Given the description of an element on the screen output the (x, y) to click on. 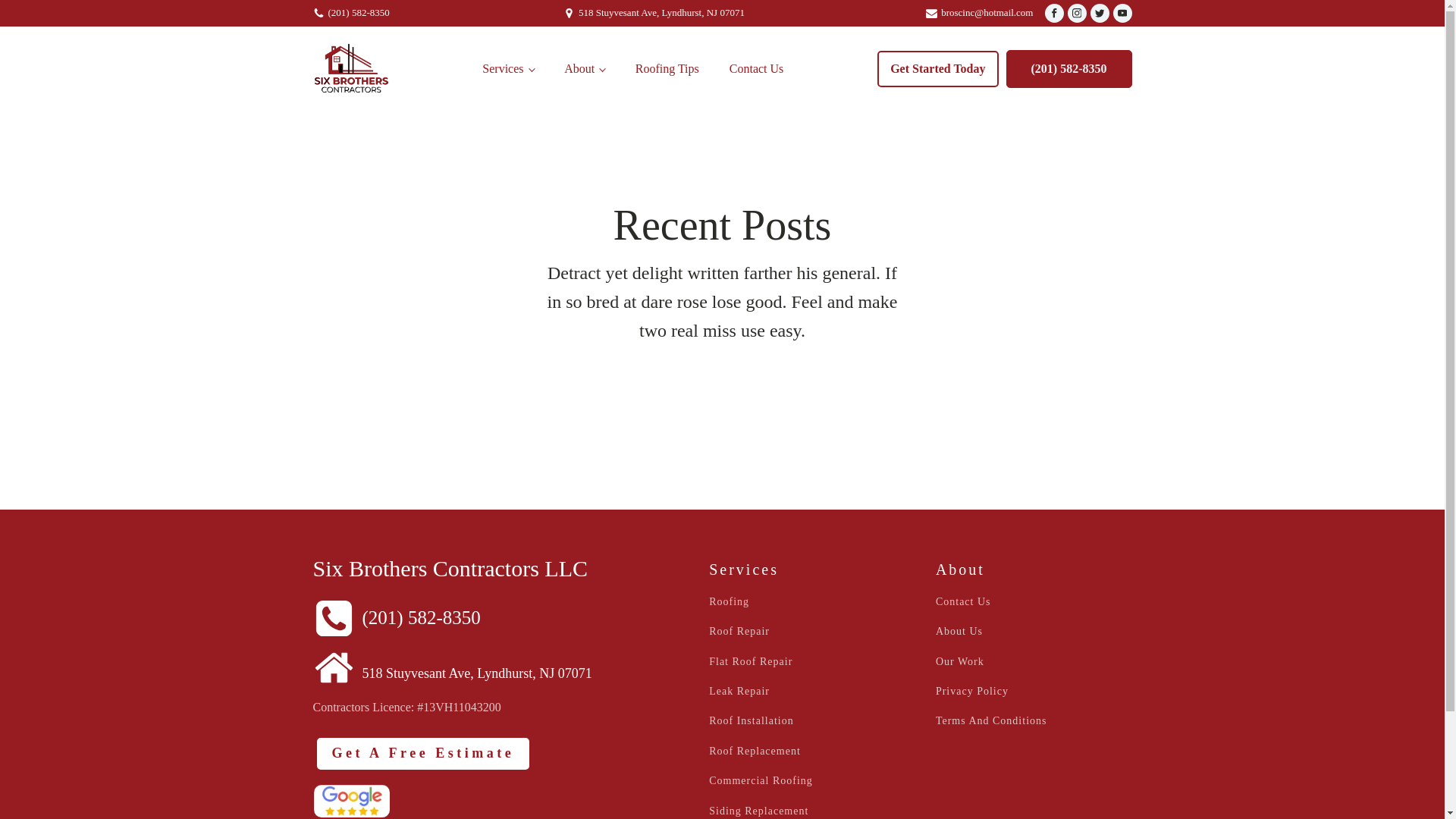
Contact Us (756, 68)
Siding Replacement (758, 810)
Leak Repair (739, 690)
Roof Repair (739, 631)
Get Started Today (937, 68)
About (584, 68)
Get A Free Estimate (423, 753)
Roofing (729, 601)
518 Stuyvesant Ave, Lyndhurst, NJ 07071 (452, 663)
Flat Roof Repair (750, 661)
Roofing Tips (667, 68)
Roof Replacement (754, 750)
518 Stuyvesant Ave, Lyndhurst, NJ 07071 (657, 12)
Commercial Roofing (760, 780)
Services (507, 68)
